Given the description of an element on the screen output the (x, y) to click on. 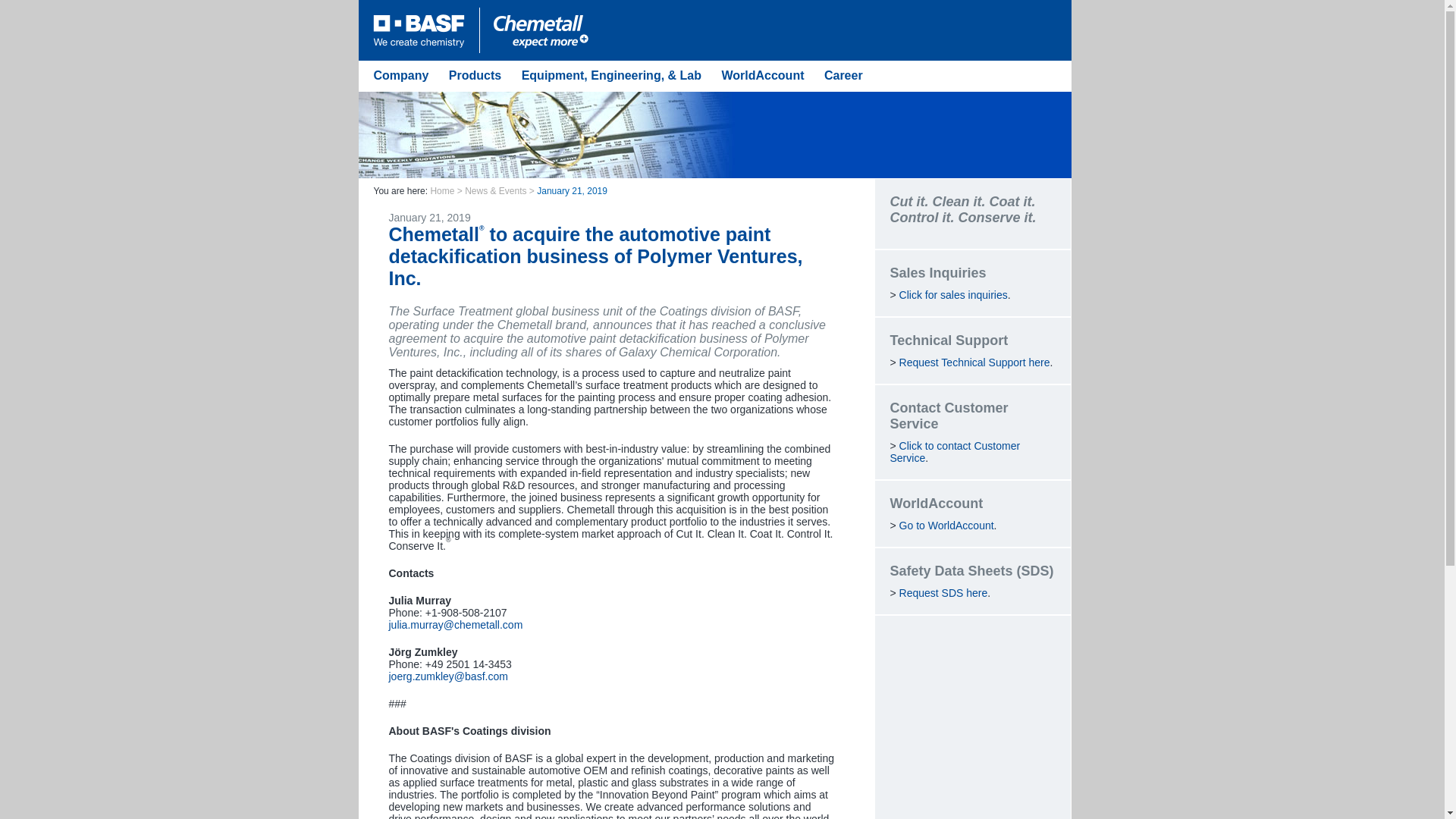
Company (393, 74)
Products (474, 74)
WorldAccount (761, 75)
Career (843, 74)
